Given the description of an element on the screen output the (x, y) to click on. 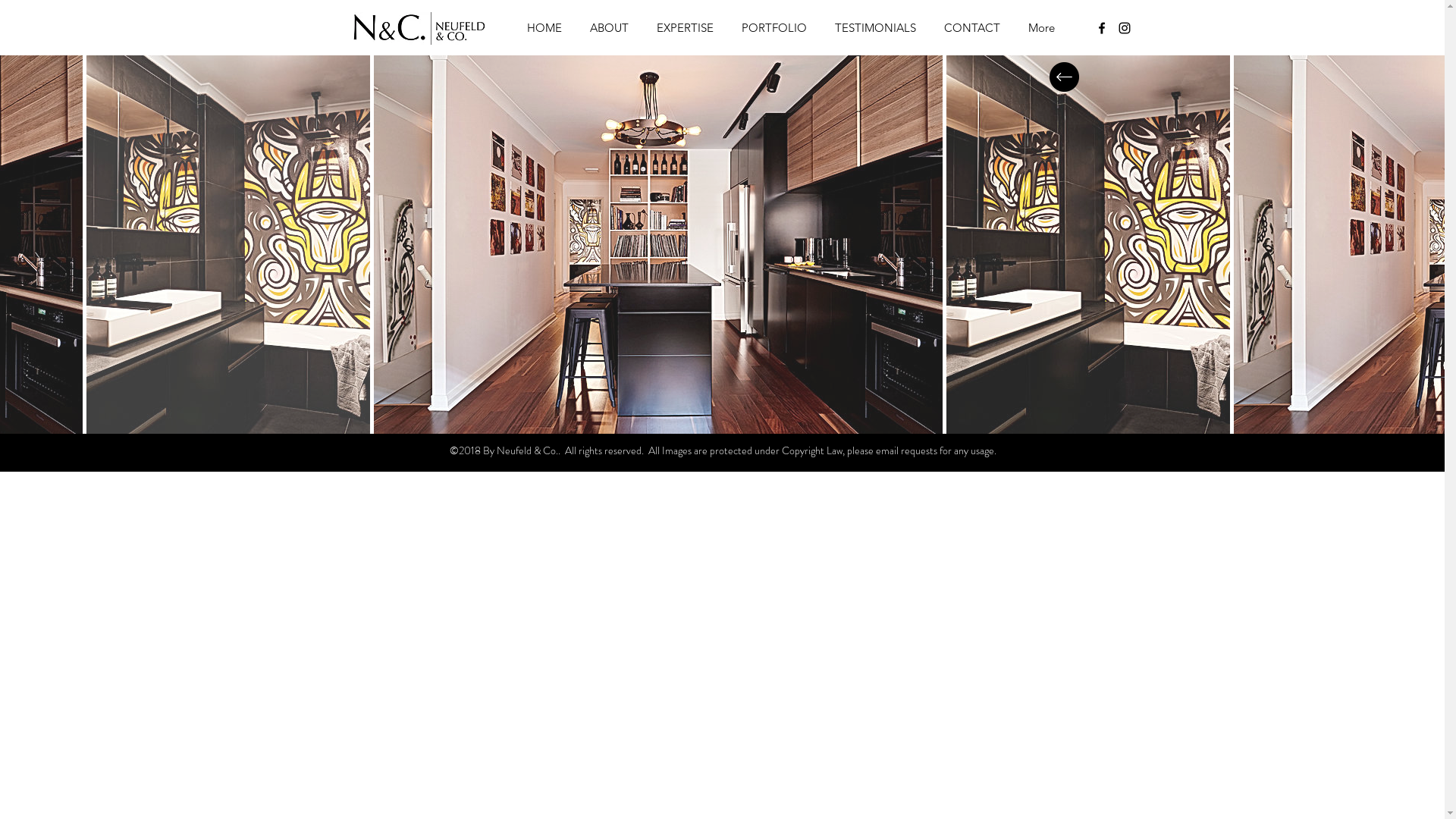
PORTFOLIO Element type: text (771, 27)
ABOUT Element type: text (606, 27)
CONTACT Element type: text (968, 27)
HOME Element type: text (541, 27)
TESTIMONIALS Element type: text (871, 27)
BACK Element type: hover (1064, 76)
EXPERTISE Element type: text (682, 27)
